Given the description of an element on the screen output the (x, y) to click on. 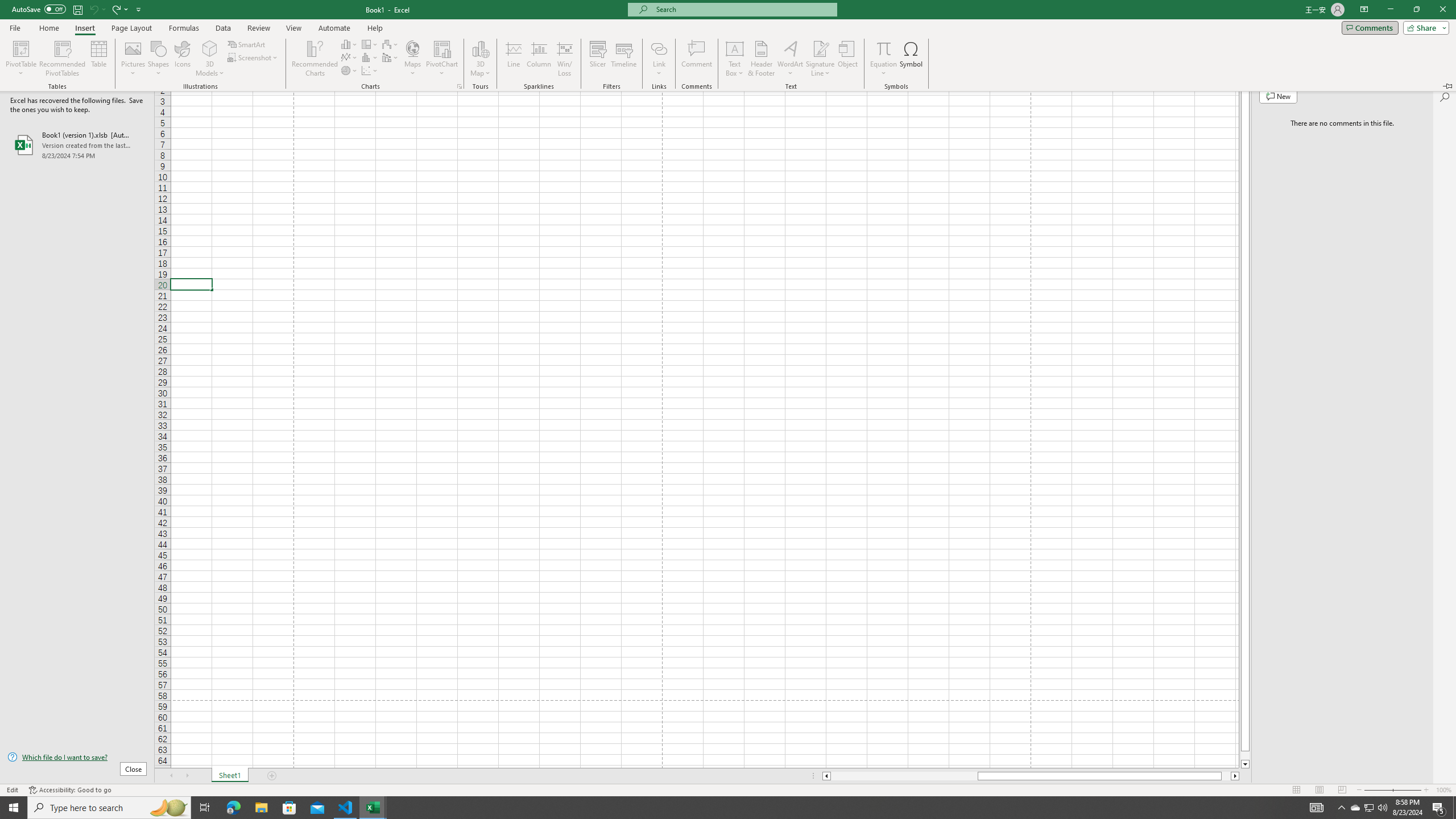
Show desktop (1454, 807)
